Given the description of an element on the screen output the (x, y) to click on. 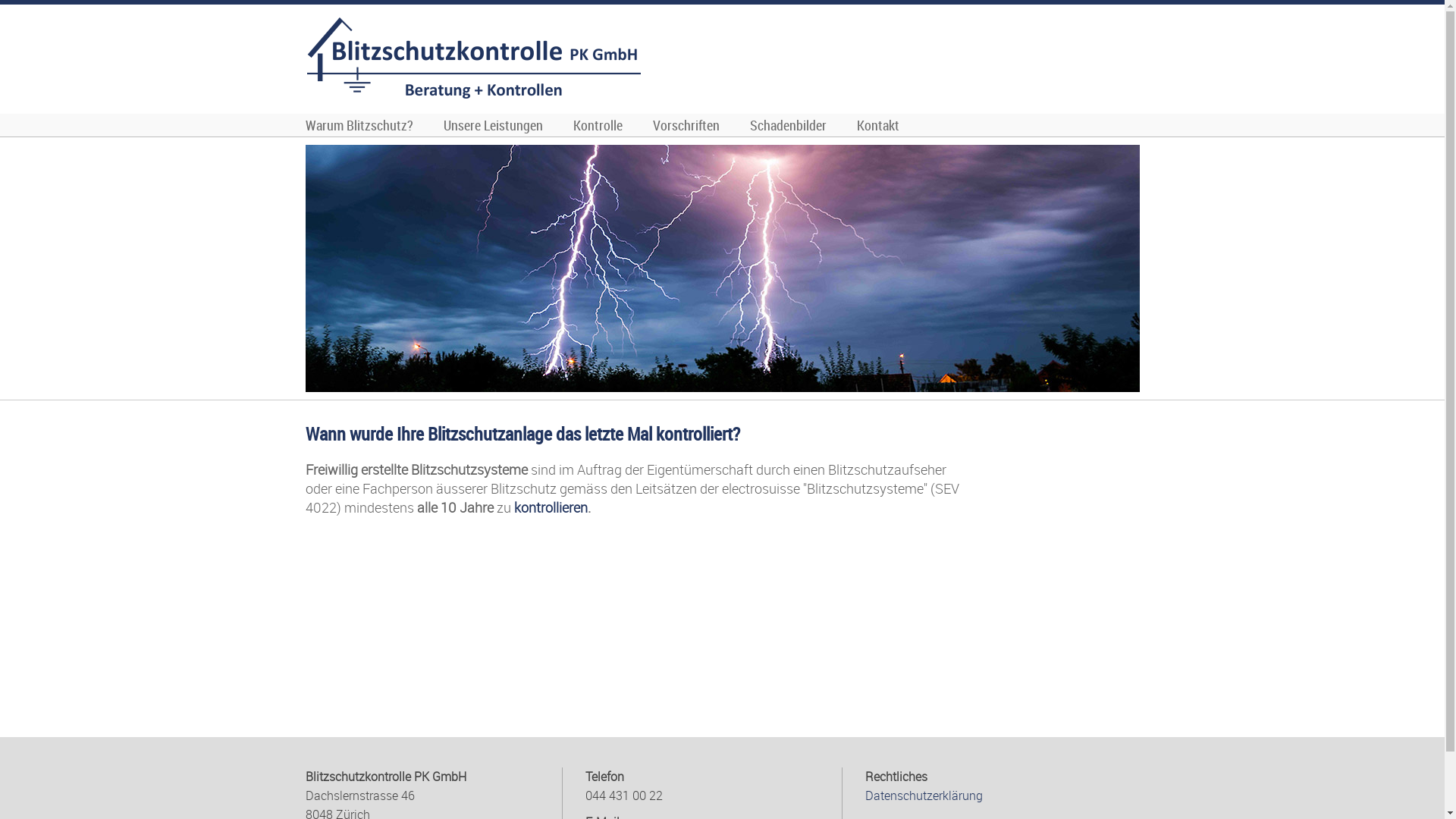
Vorschriften Element type: text (685, 124)
Kontrolle Element type: text (597, 124)
Kontakt Element type: text (877, 124)
Schadenbilder Element type: text (787, 124)
kontrollieren Element type: text (550, 507)
Unsere Leistungen Element type: text (492, 124)
Warum Blitzschutz? Element type: text (358, 124)
